Given the description of an element on the screen output the (x, y) to click on. 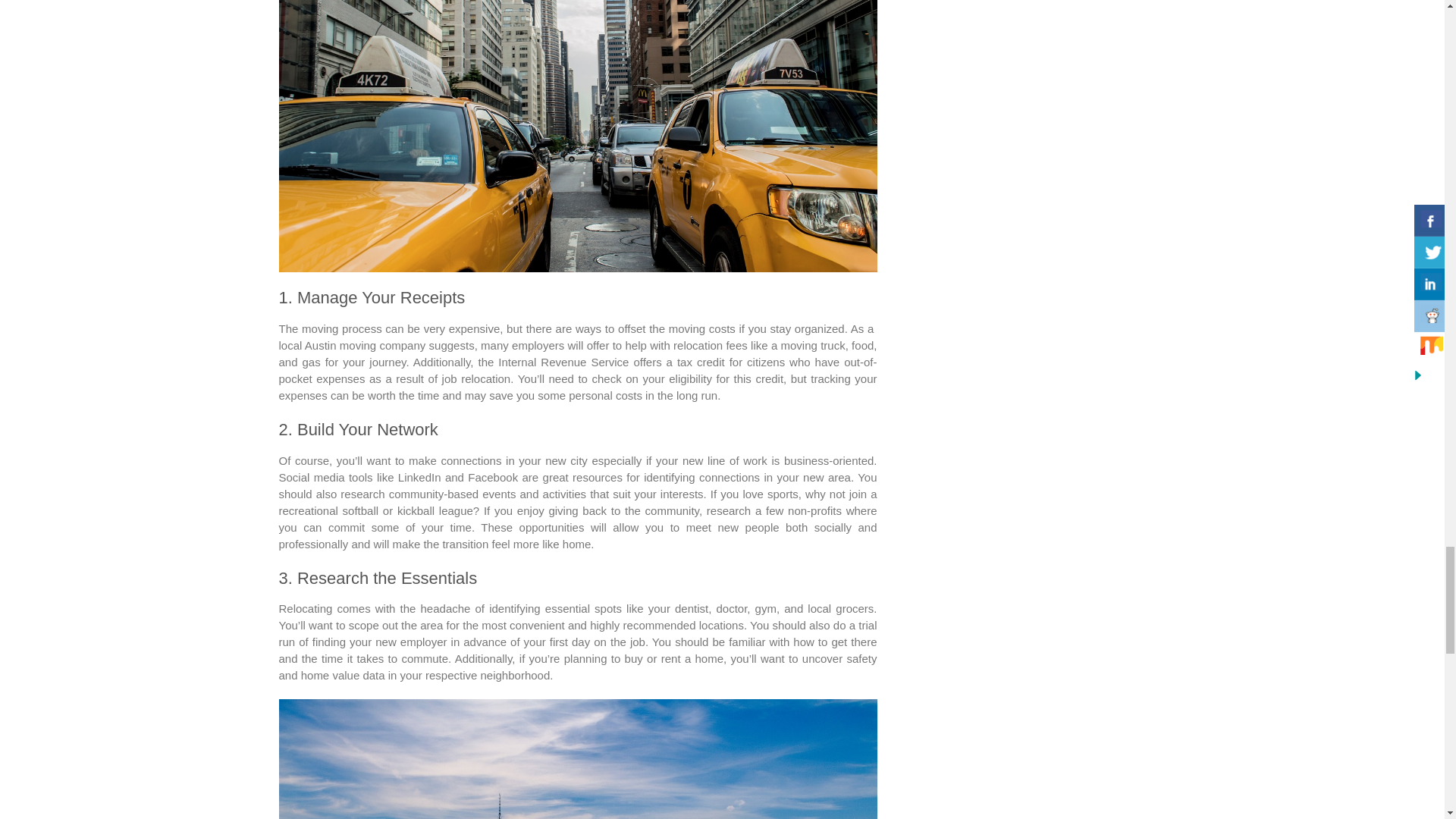
tax credit (701, 361)
scope out the area (396, 625)
